Given the description of an element on the screen output the (x, y) to click on. 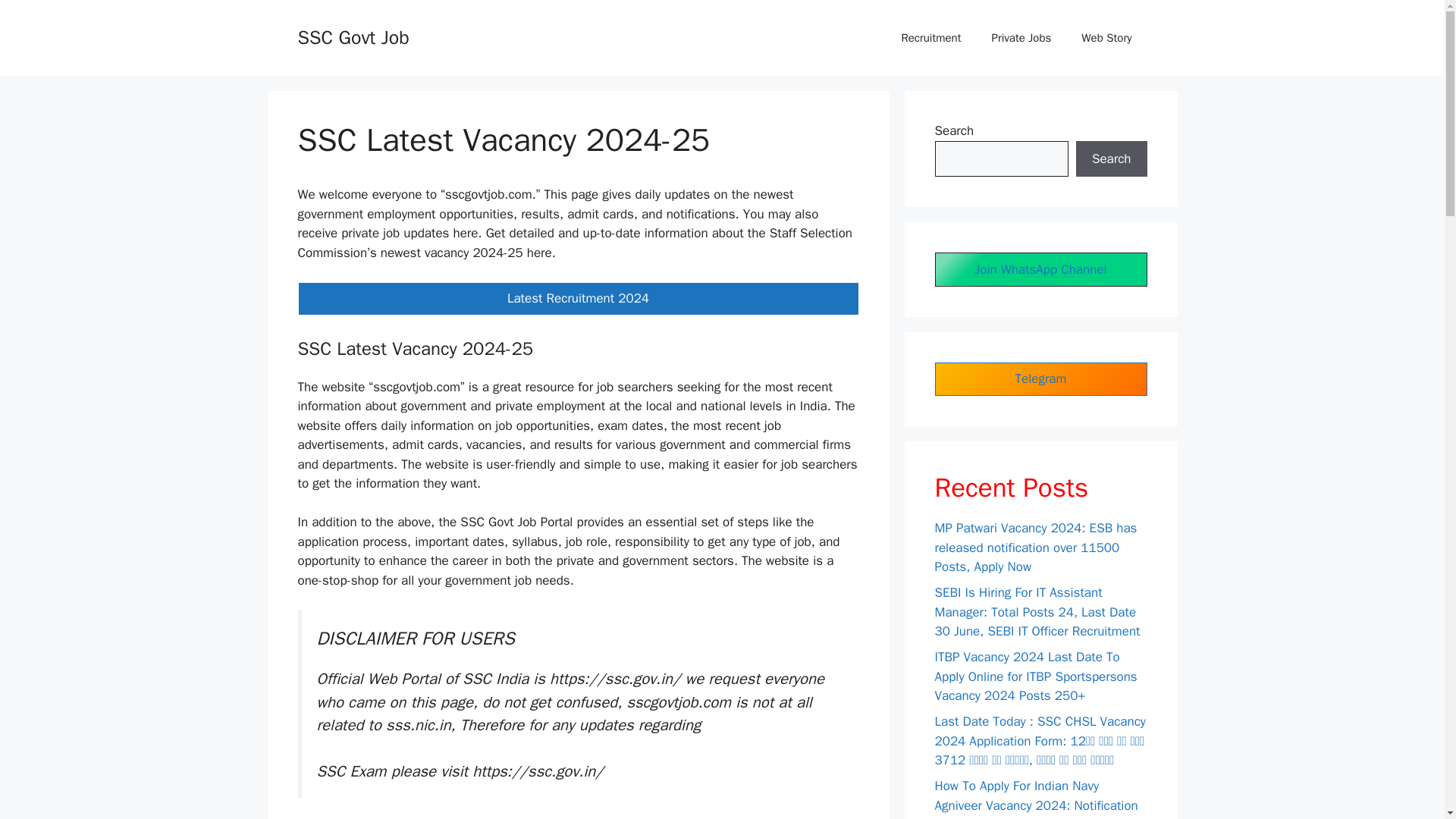
Recruitment (930, 37)
Search (1111, 158)
Private Jobs (1021, 37)
SSC Govt Job (353, 37)
Web Story (1106, 37)
Join WhatsApp Channel (1040, 268)
Telegram (1040, 378)
